Given the description of an element on the screen output the (x, y) to click on. 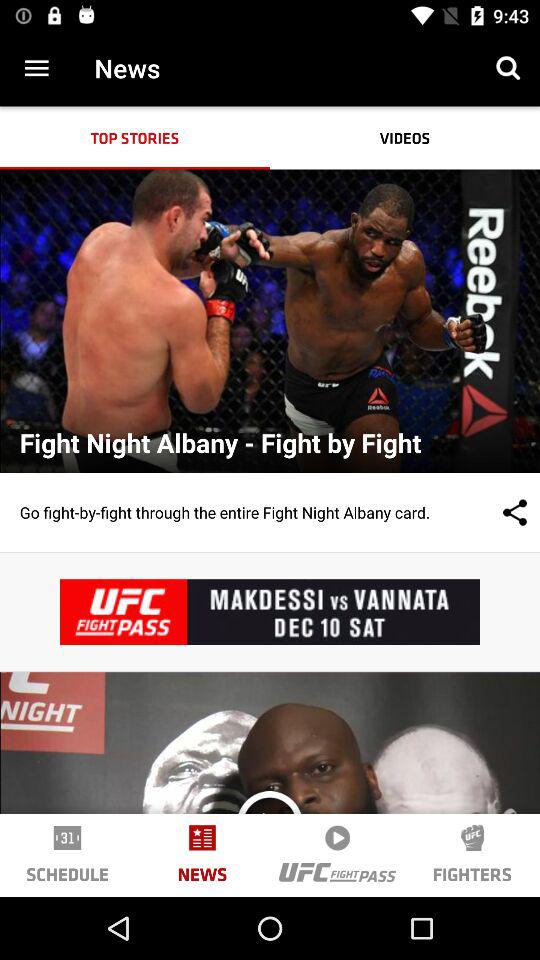
share this (495, 512)
